Given the description of an element on the screen output the (x, y) to click on. 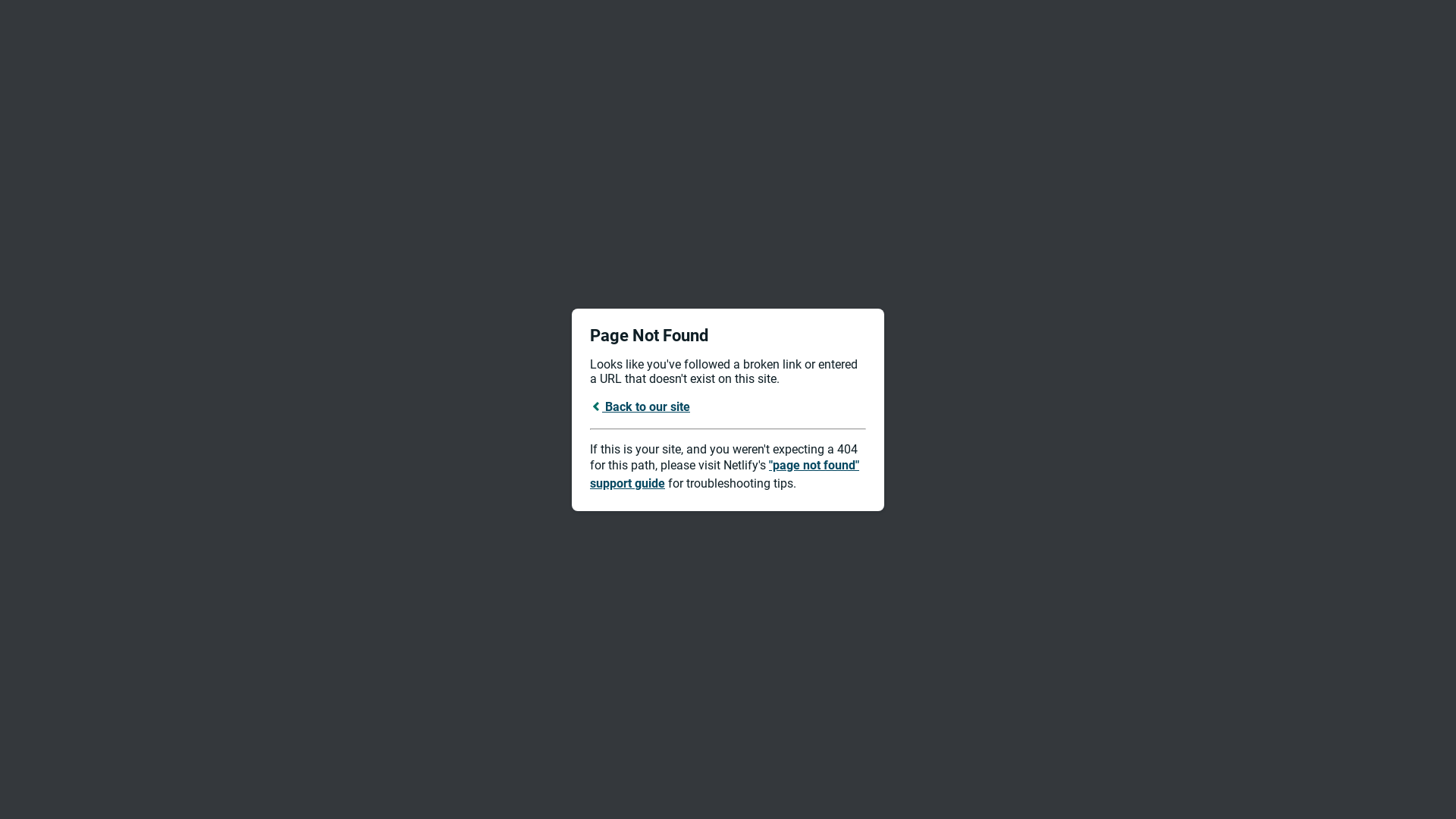
Back to our site Element type: text (639, 405)
"page not found" support guide Element type: text (724, 474)
